Given the description of an element on the screen output the (x, y) to click on. 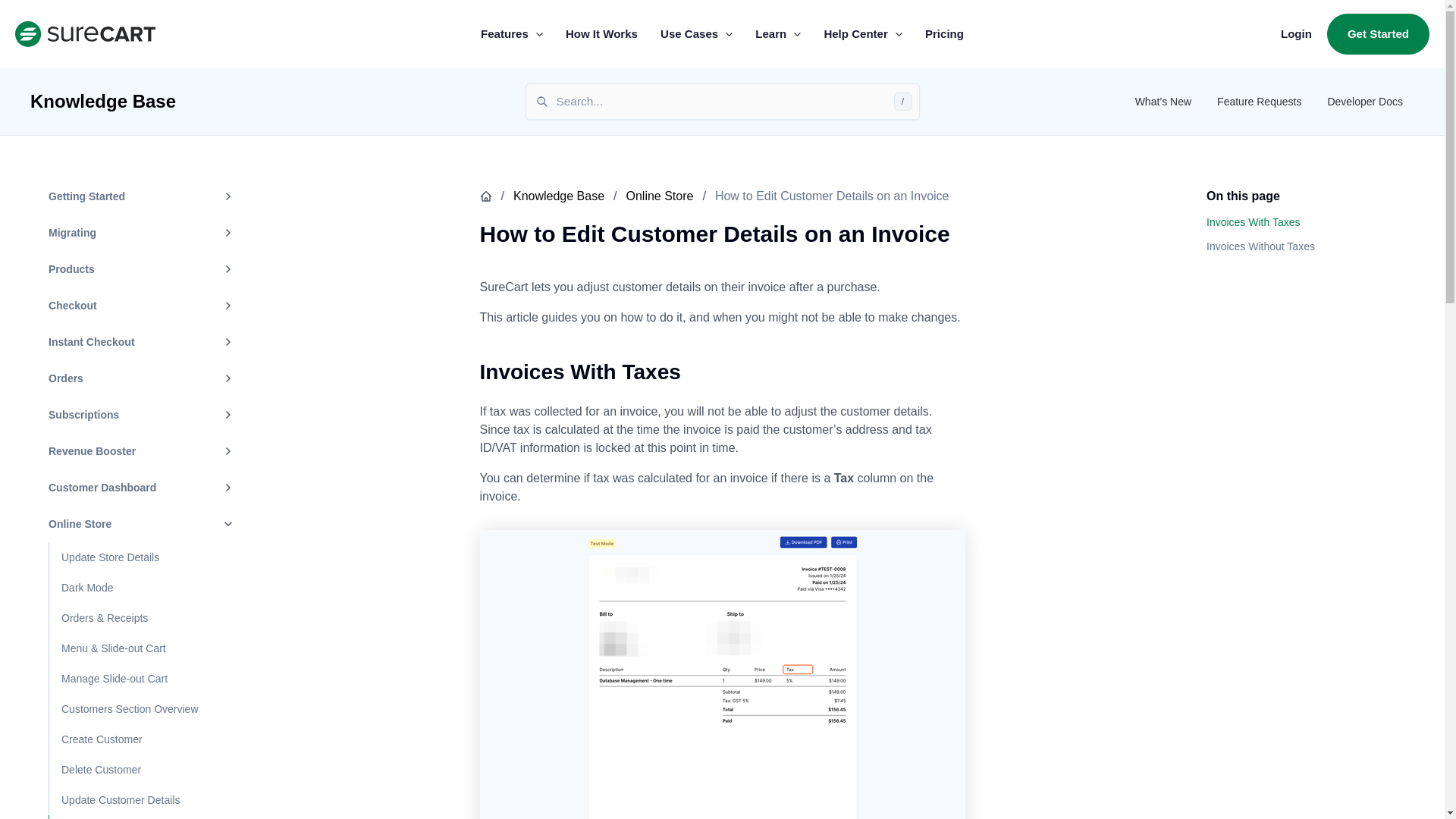
Use Cases (696, 34)
How It Works (601, 34)
Features (511, 34)
